Given the description of an element on the screen output the (x, y) to click on. 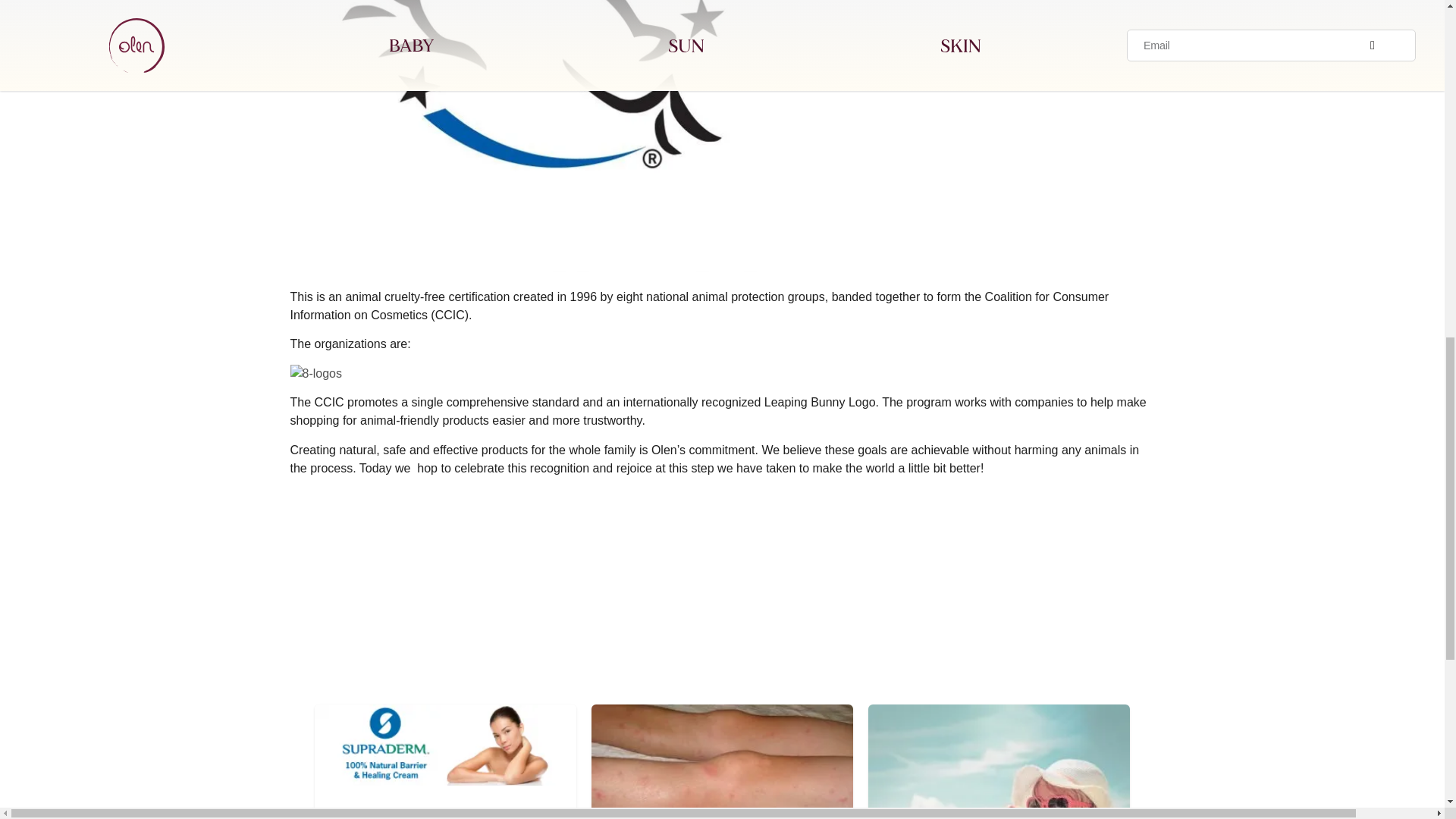
img1 (722, 761)
2 (445, 744)
